Given the description of an element on the screen output the (x, y) to click on. 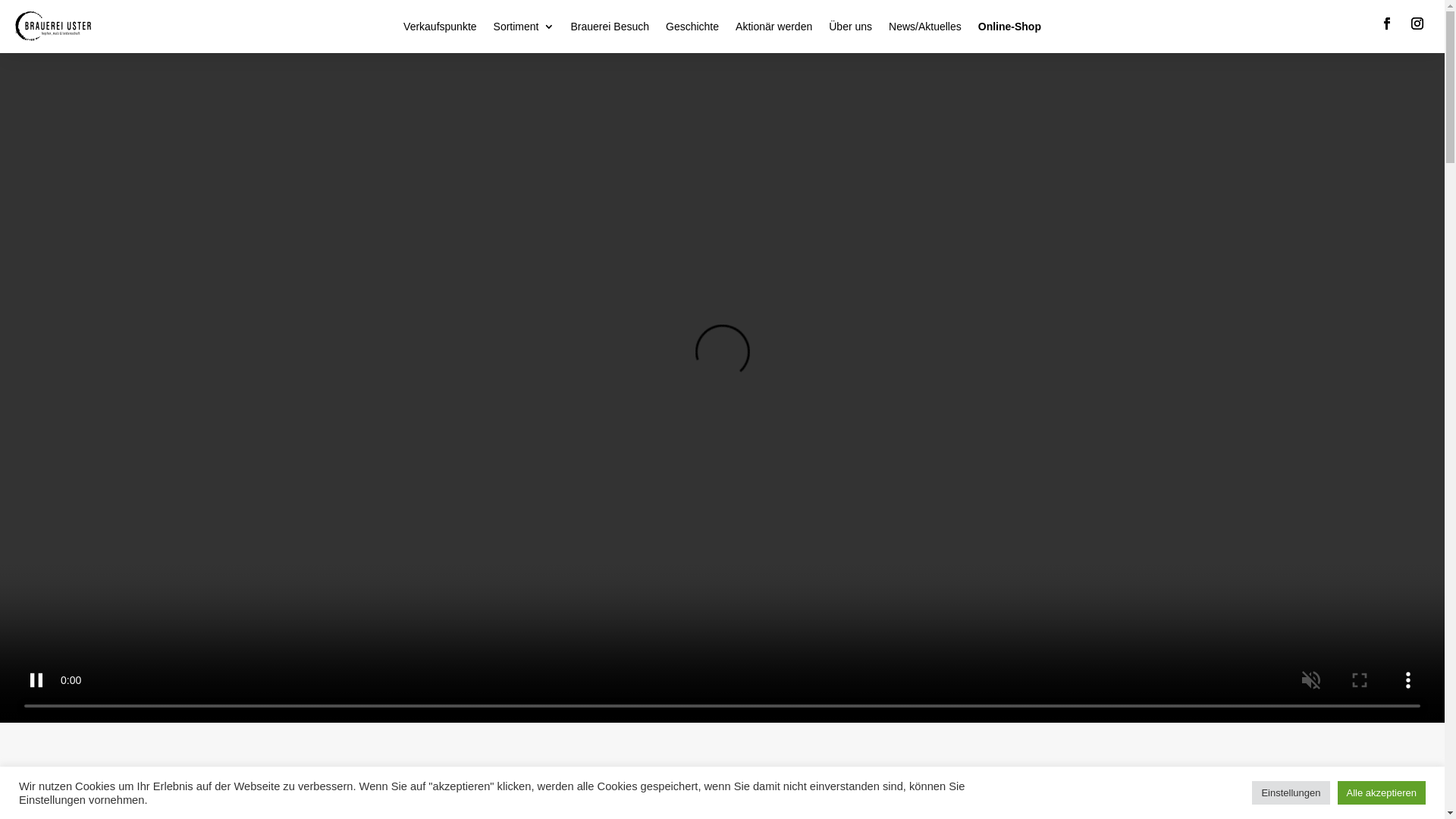
Sortiment Element type: text (523, 29)
Folge auf Instagram Element type: hover (1417, 23)
Folge auf Facebook Element type: hover (1386, 23)
Verkaufspunkte Element type: text (439, 29)
Einstellungen Element type: text (1290, 792)
Alle akzeptieren Element type: text (1381, 792)
Brauerei Besuch Element type: text (609, 29)
News/Aktuelles Element type: text (924, 29)
Logo-Brauerei-Uster Element type: hover (53, 25)
Geschichte Element type: text (691, 29)
Online-Shop Element type: text (1009, 29)
